Given the description of an element on the screen output the (x, y) to click on. 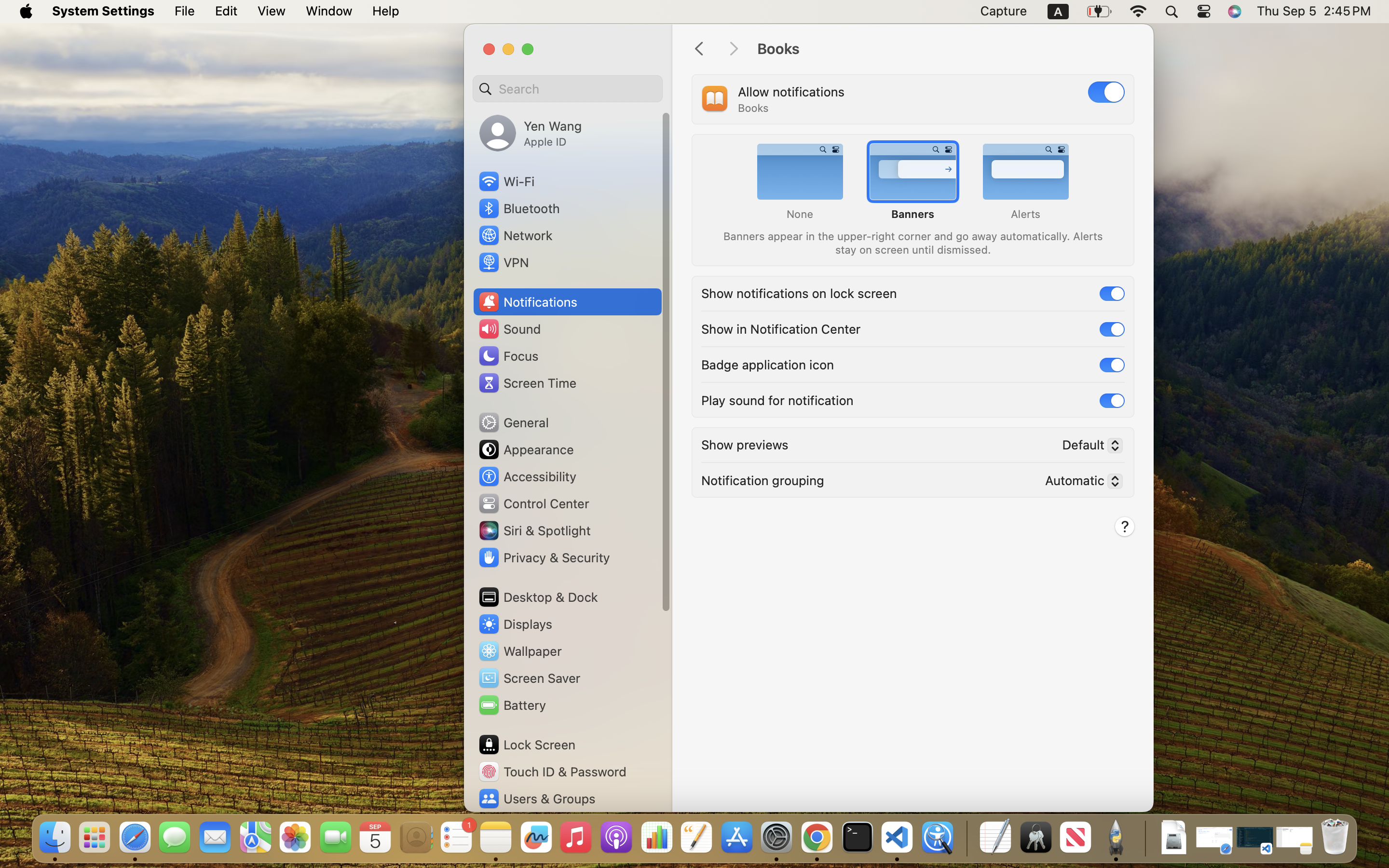
Wi‑Fi Element type: AXStaticText (505, 180)
Show previews Element type: AXStaticText (744, 443)
General Element type: AXStaticText (512, 422)
Badge application icon Element type: AXStaticText (767, 363)
Screen Time Element type: AXStaticText (526, 382)
